Given the description of an element on the screen output the (x, y) to click on. 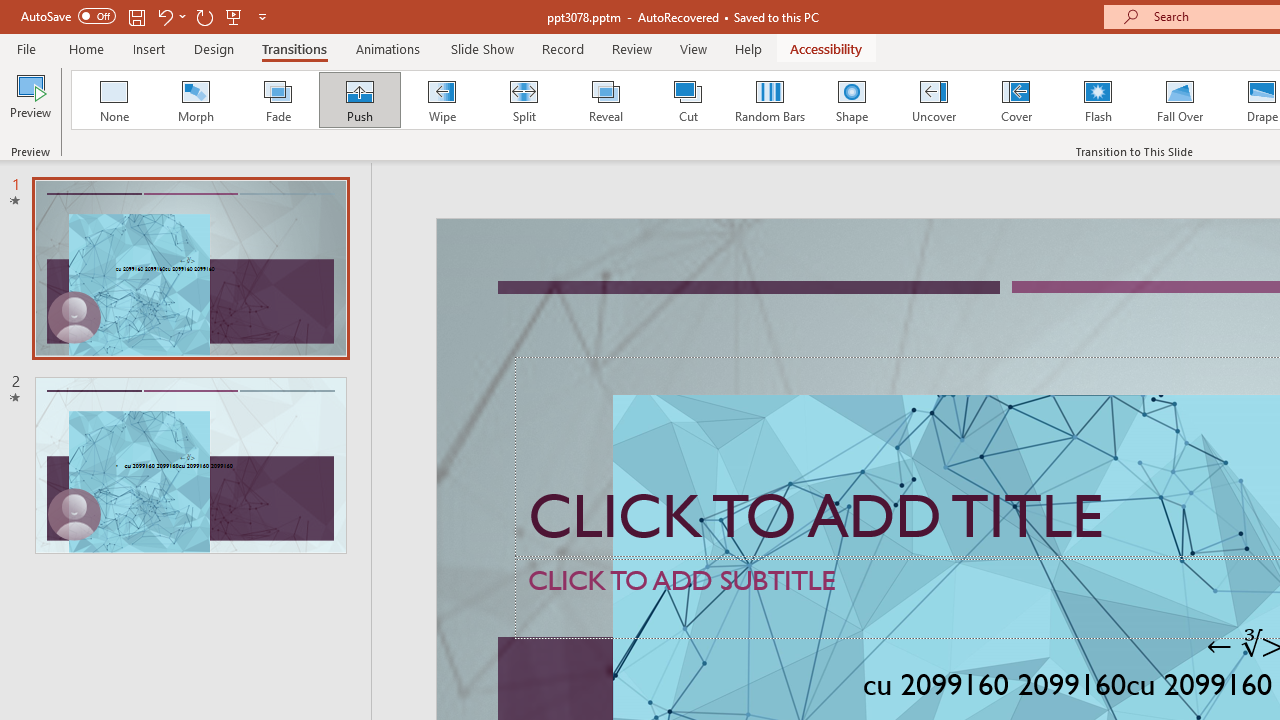
Shape (852, 100)
Fall Over (1180, 100)
Random Bars (770, 100)
